Given the description of an element on the screen output the (x, y) to click on. 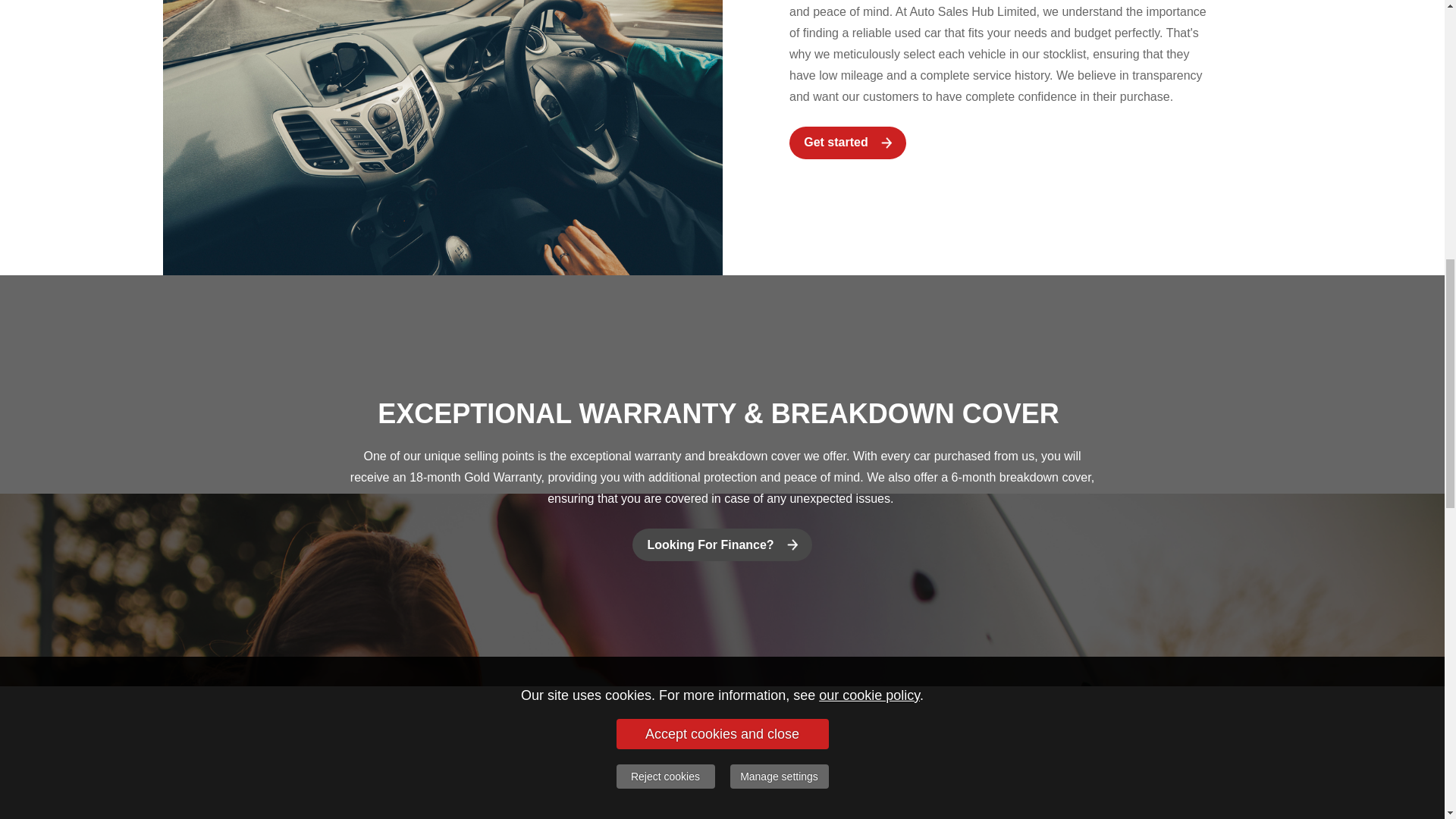
Looking For Finance? (720, 544)
Get started (847, 142)
